Given the description of an element on the screen output the (x, y) to click on. 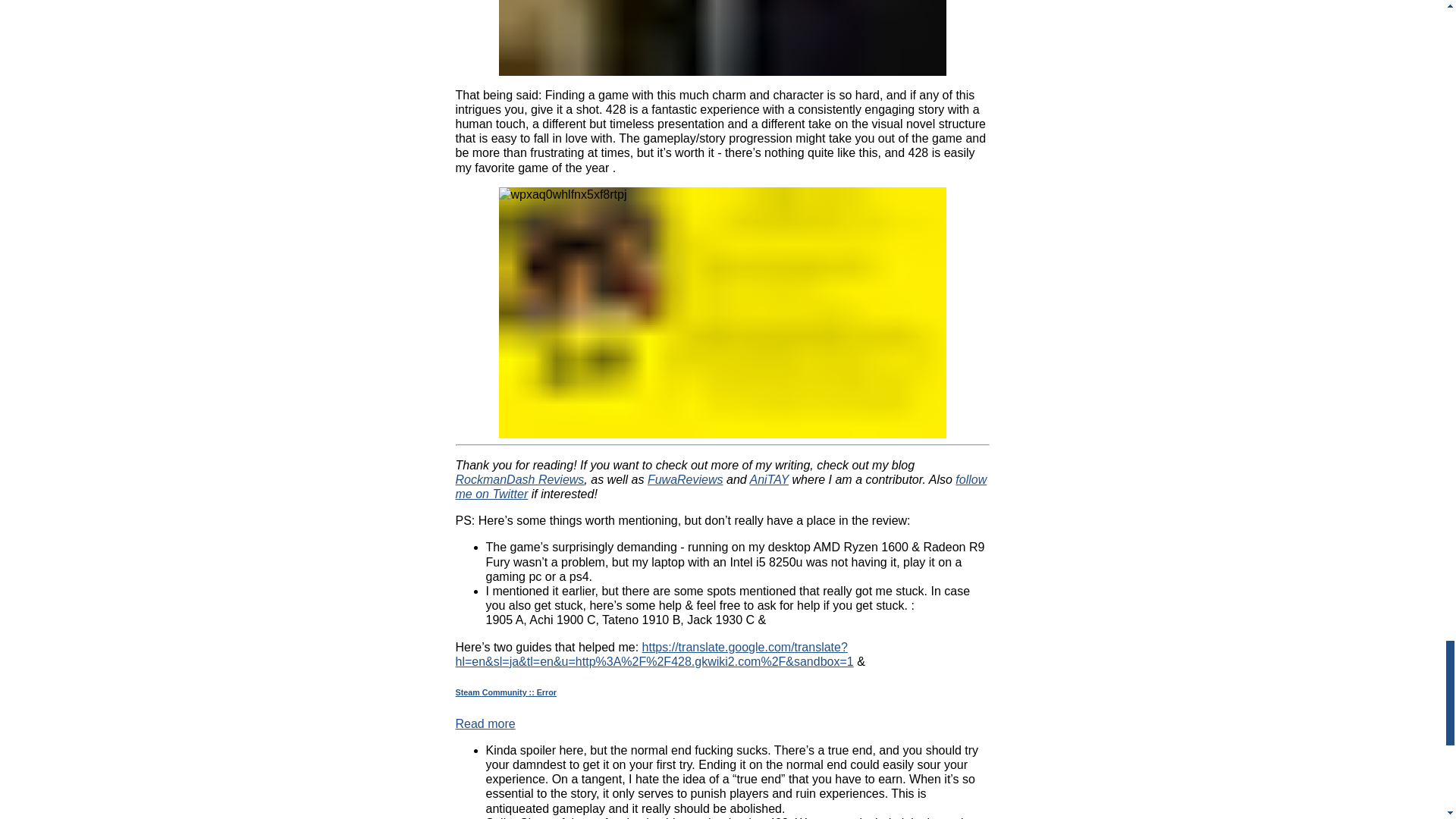
Steam Community :: Error (721, 692)
Read more (484, 723)
wpxaq0whlfnx5xf8rtpj (722, 312)
follow me on Twitter (720, 486)
FuwaReviews (685, 479)
styhq0i9rq38clfkz11j (722, 38)
AniTAY (769, 479)
RockmanDash Reviews (518, 479)
